Given the description of an element on the screen output the (x, y) to click on. 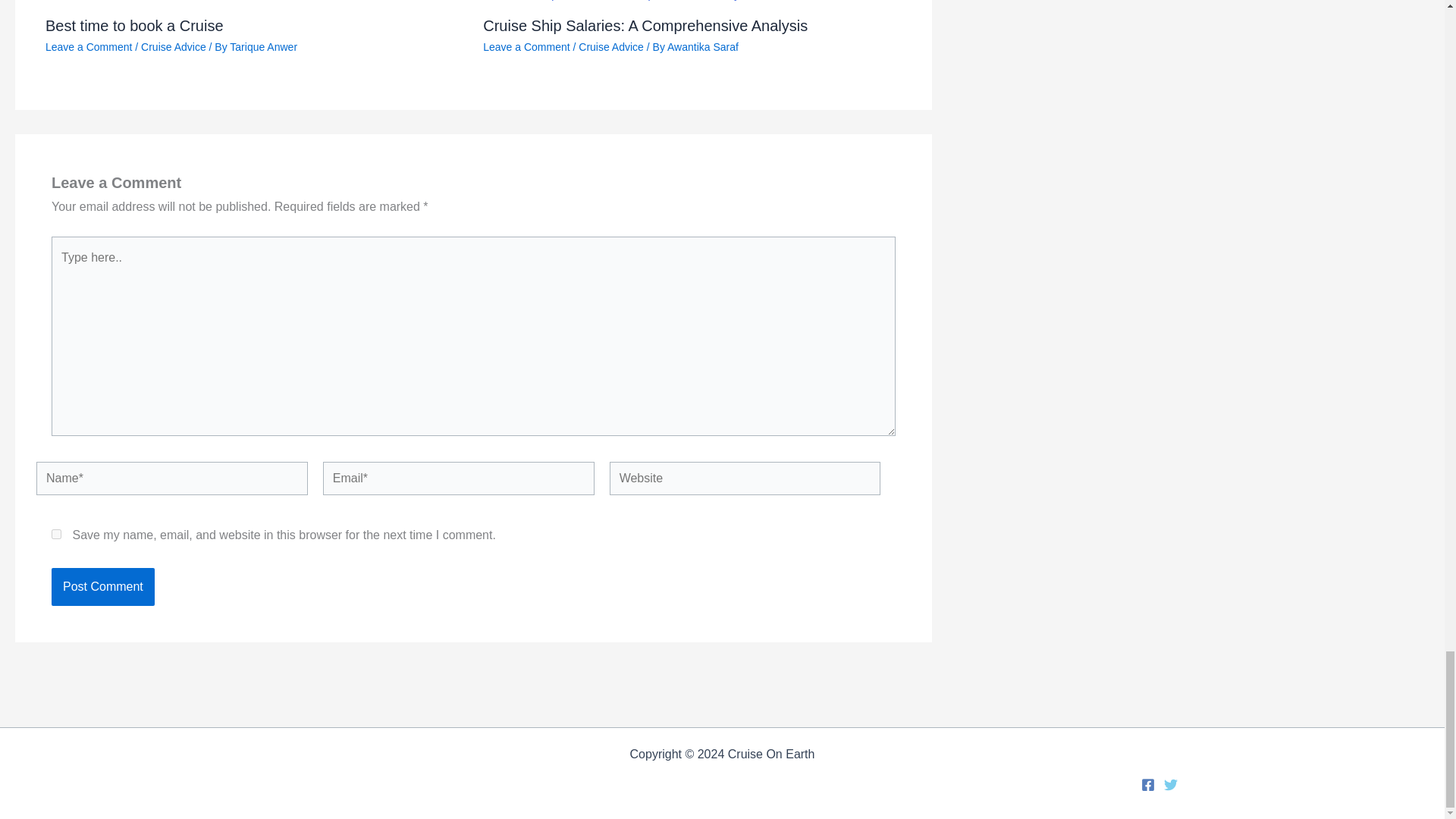
Cruise Advice (173, 46)
yes (55, 533)
Post Comment (102, 587)
Leave a Comment (88, 46)
Tarique Anwer (263, 46)
Post Comment (102, 587)
Leave a Comment (526, 46)
Cruise Ship Salaries: A Comprehensive Analysis (645, 24)
Best time to book a Cruise (134, 24)
Cruise Advice (610, 46)
View all posts by Awantika Saraf (702, 46)
View all posts by Tarique Anwer (263, 46)
Awantika Saraf (702, 46)
